Given the description of an element on the screen output the (x, y) to click on. 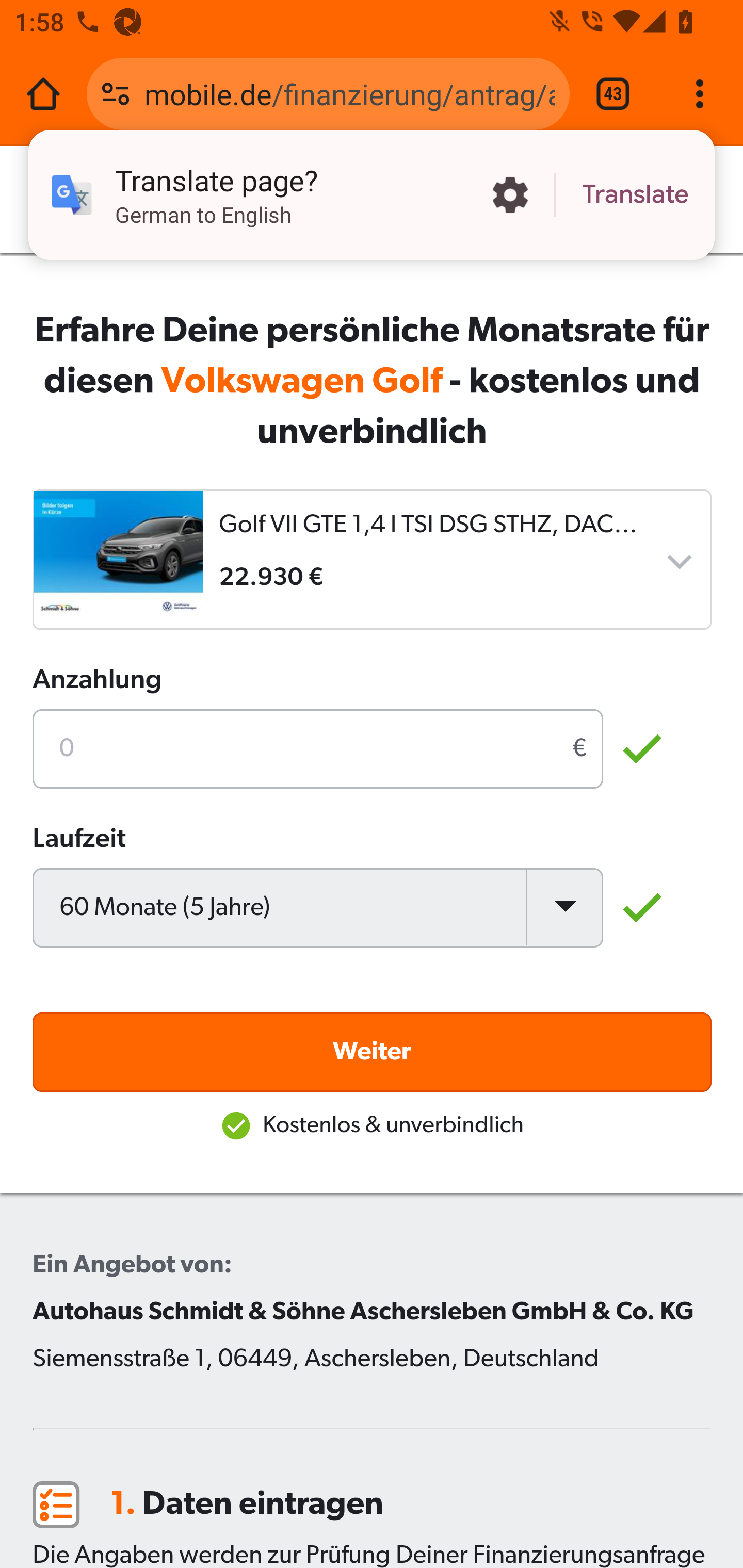
Open the home page (43, 93)
Connection is secure (115, 93)
Switch or close tabs (612, 93)
Customize and control Google Chrome (699, 93)
Translate (634, 195)
More options in the Translate page? (509, 195)
60 Monate (5 Jahre) (317, 907)
Weiter (372, 1051)
